Given the description of an element on the screen output the (x, y) to click on. 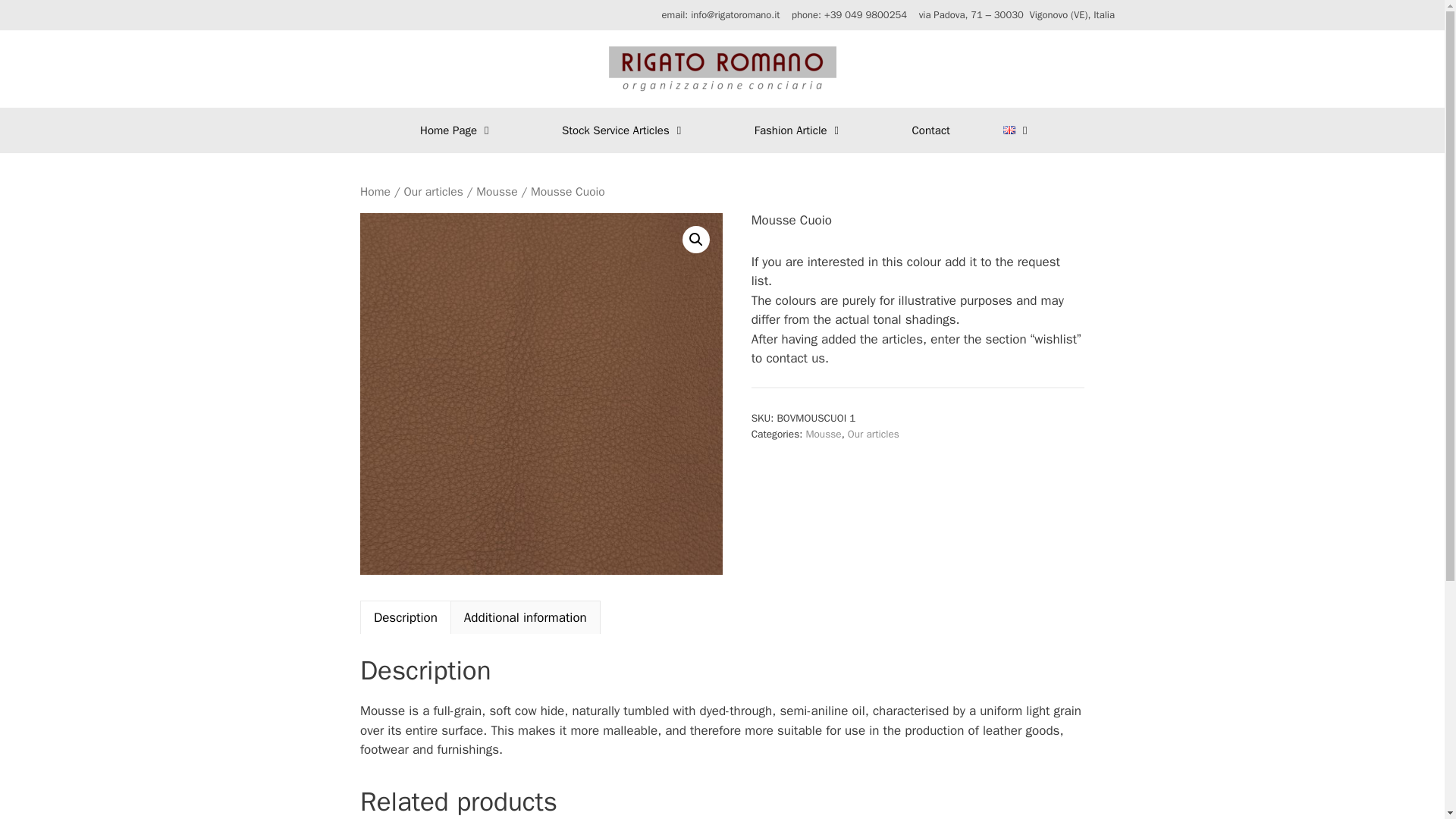
Cuoio (540, 393)
Home (374, 191)
Home Page (452, 130)
Contact (920, 130)
Fashion Article (795, 130)
Our articles (433, 191)
Stock Service Articles (620, 130)
